Given the description of an element on the screen output the (x, y) to click on. 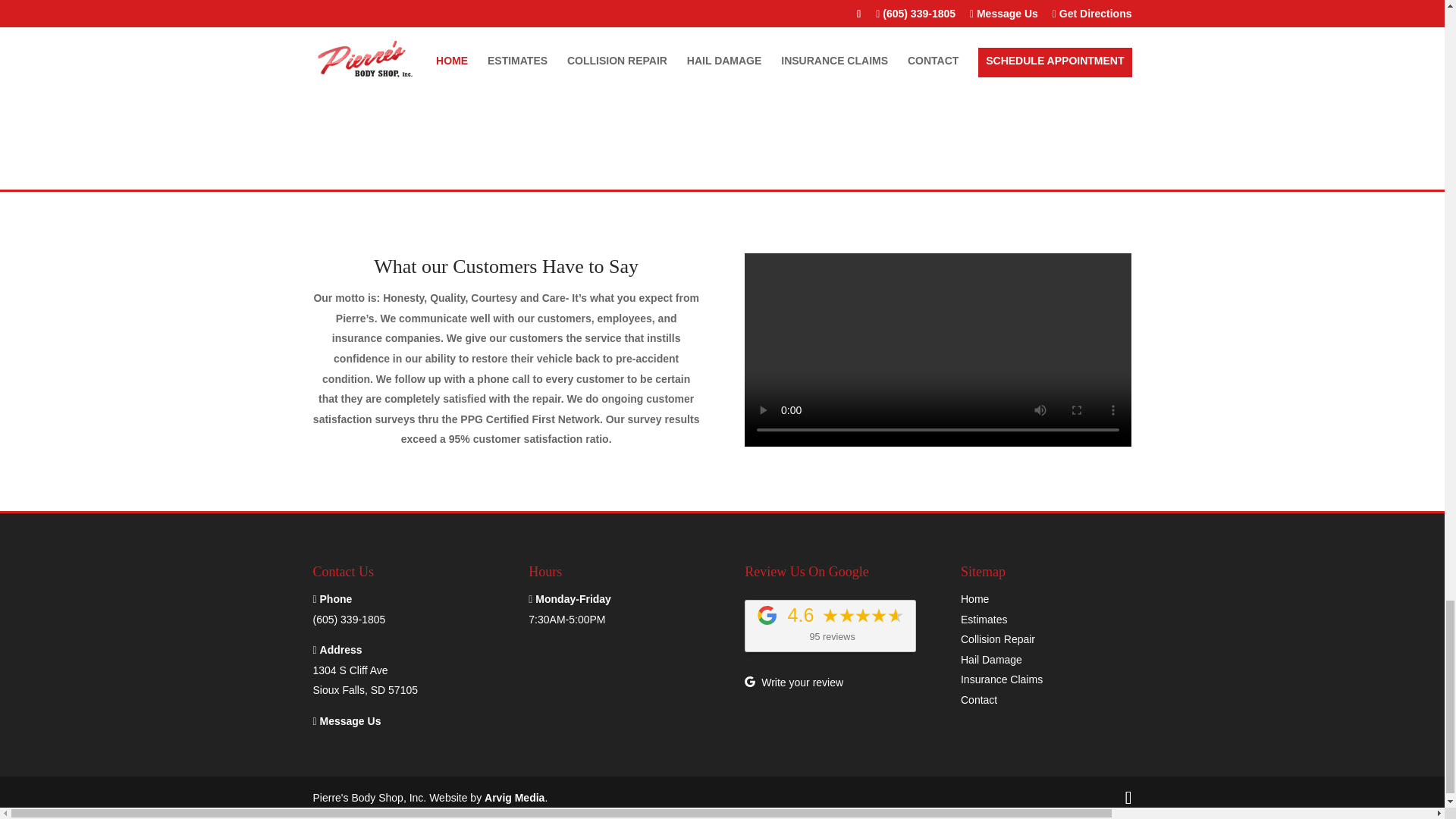
Powered by Google (365, 680)
gold class logo (766, 615)
Message Us (937, 2)
